Given the description of an element on the screen output the (x, y) to click on. 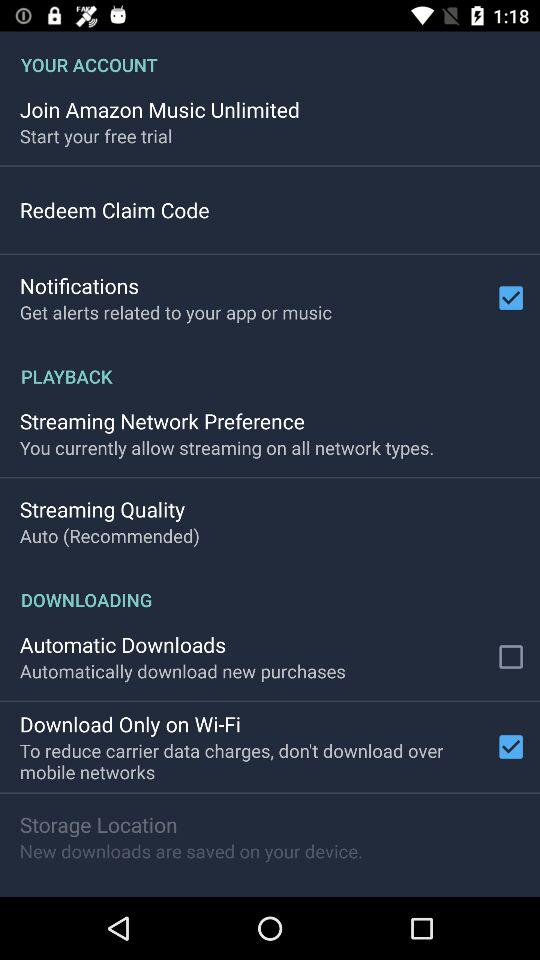
open the to reduce carrier icon (253, 761)
